Given the description of an element on the screen output the (x, y) to click on. 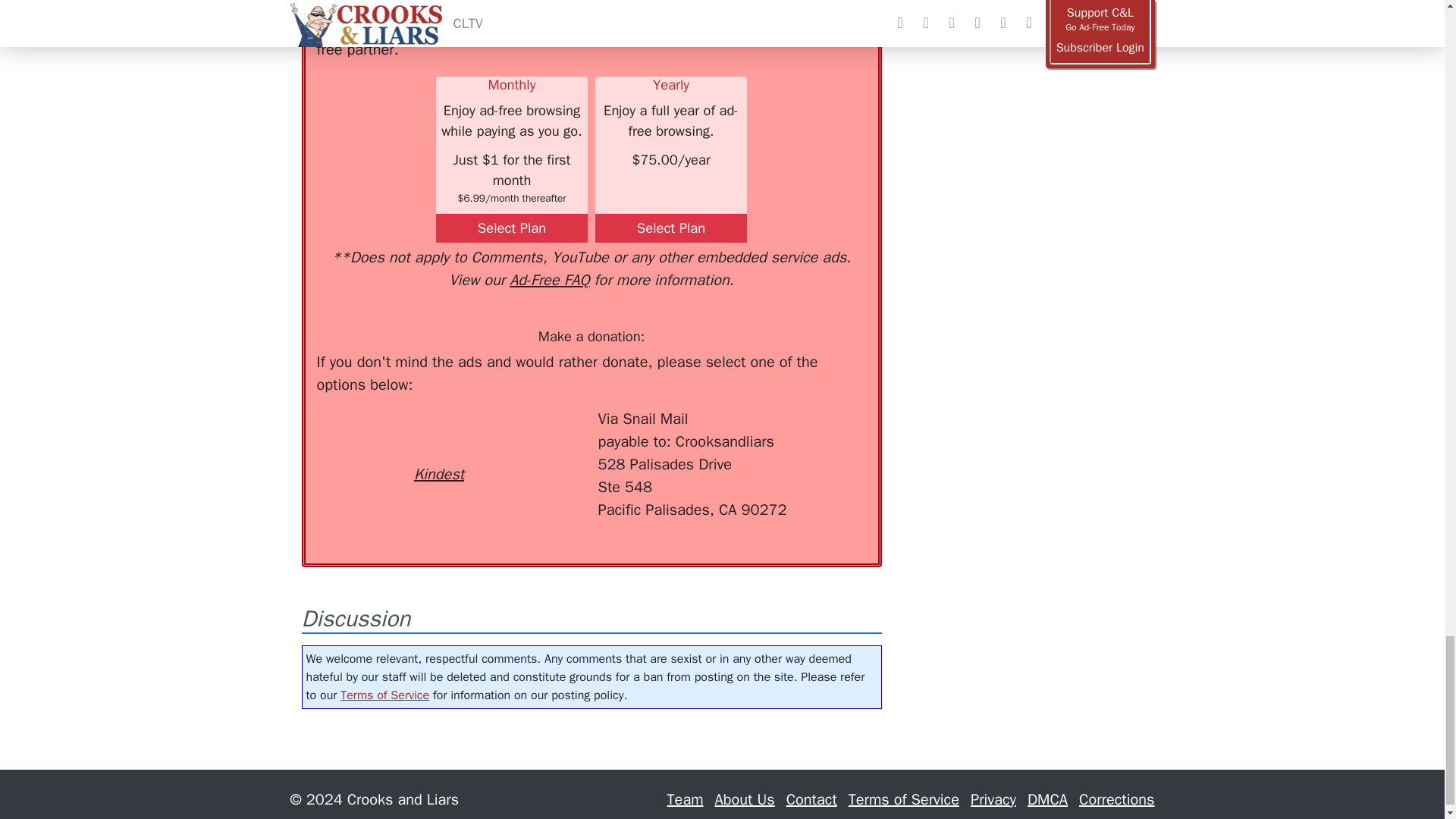
Donate via PayPal (540, 435)
Donate via Kindest (438, 446)
